Given the description of an element on the screen output the (x, y) to click on. 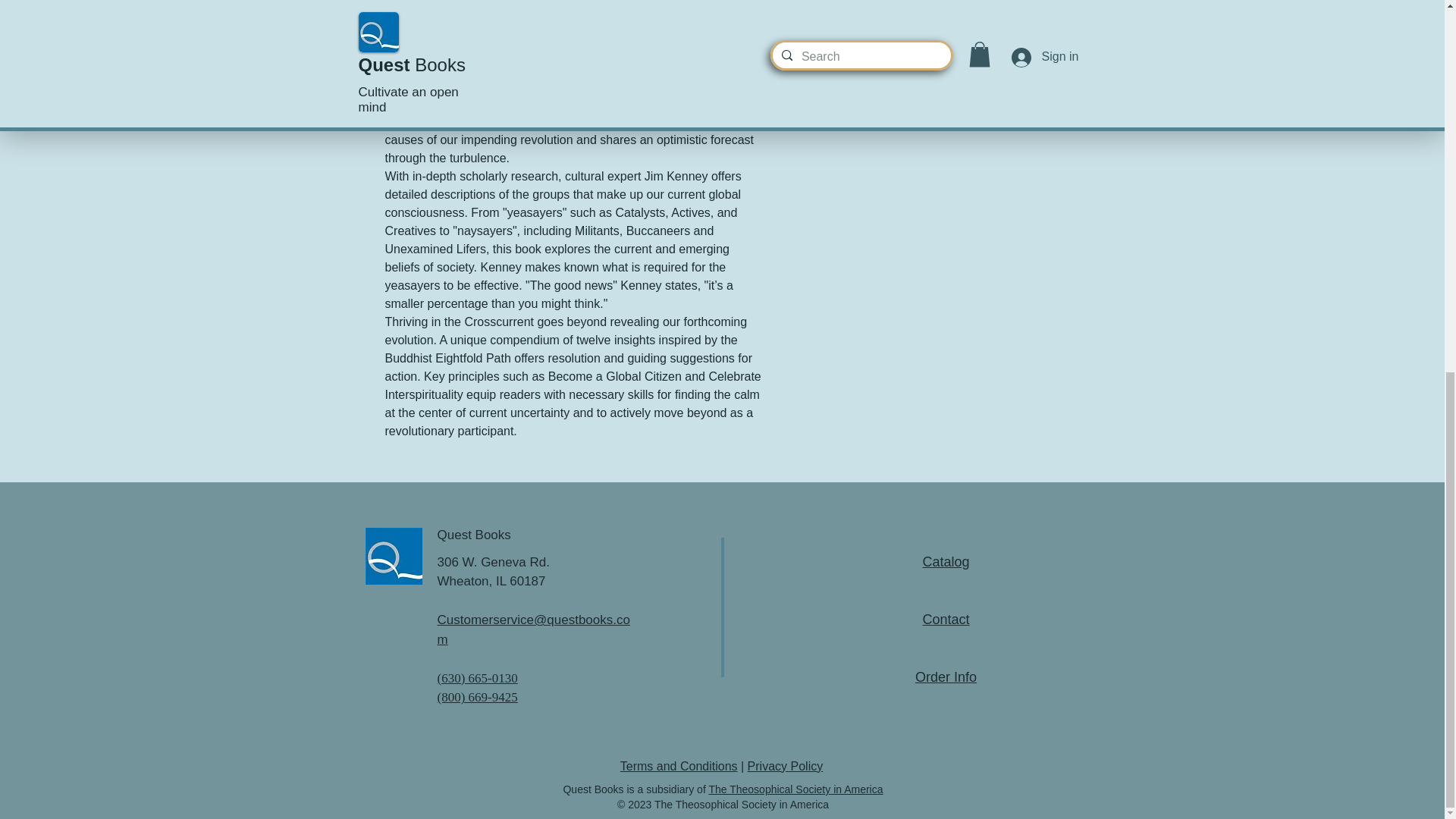
Terms and Conditions (679, 766)
Order Info (945, 676)
Format (924, 19)
Pages (924, 73)
Contact (945, 619)
Dimensions (924, 126)
Catalog (945, 561)
The Theosophical Society in America (794, 788)
Privacy Policy (786, 766)
